Given the description of an element on the screen output the (x, y) to click on. 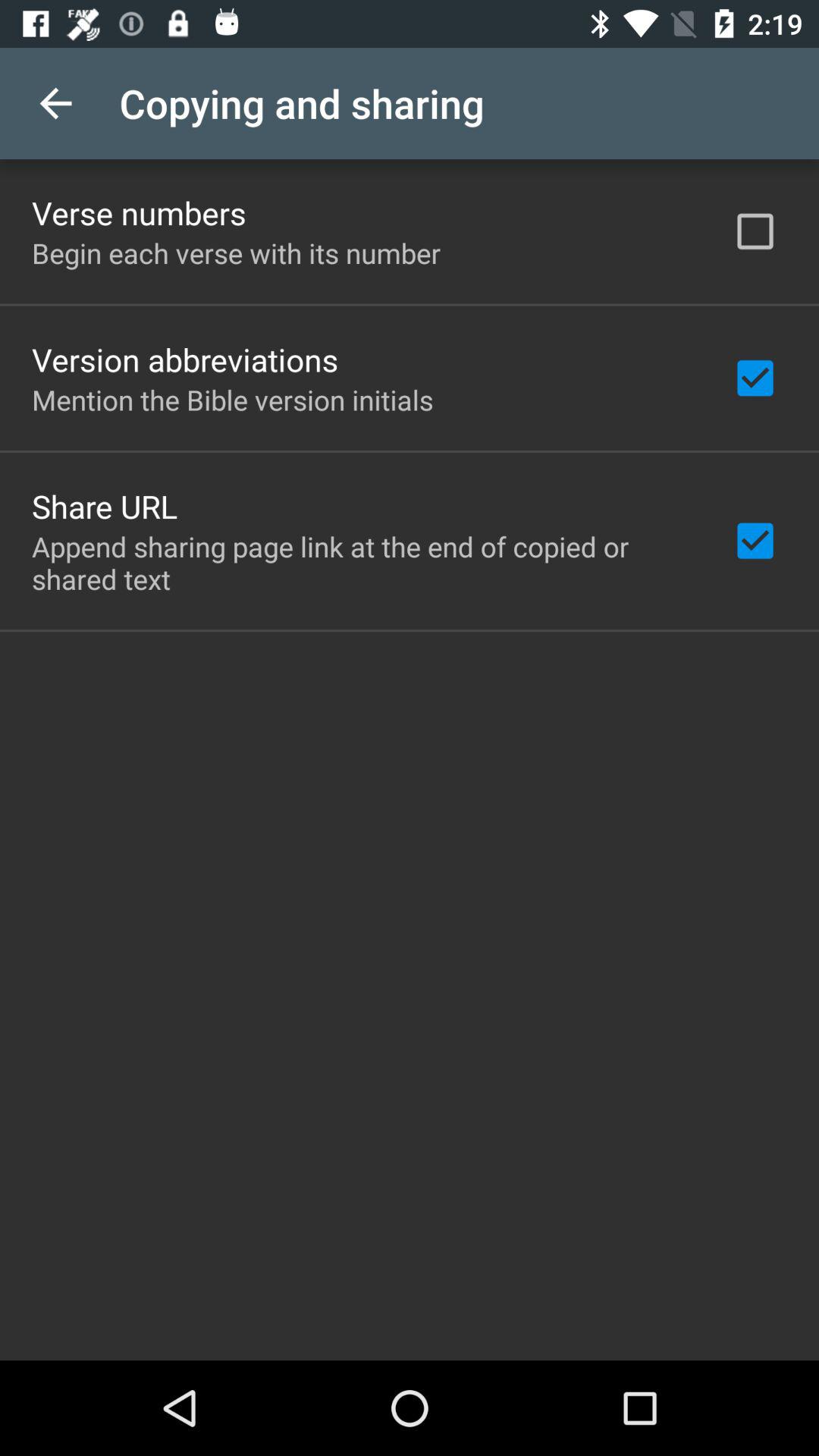
choose the share url on the left (104, 505)
